Given the description of an element on the screen output the (x, y) to click on. 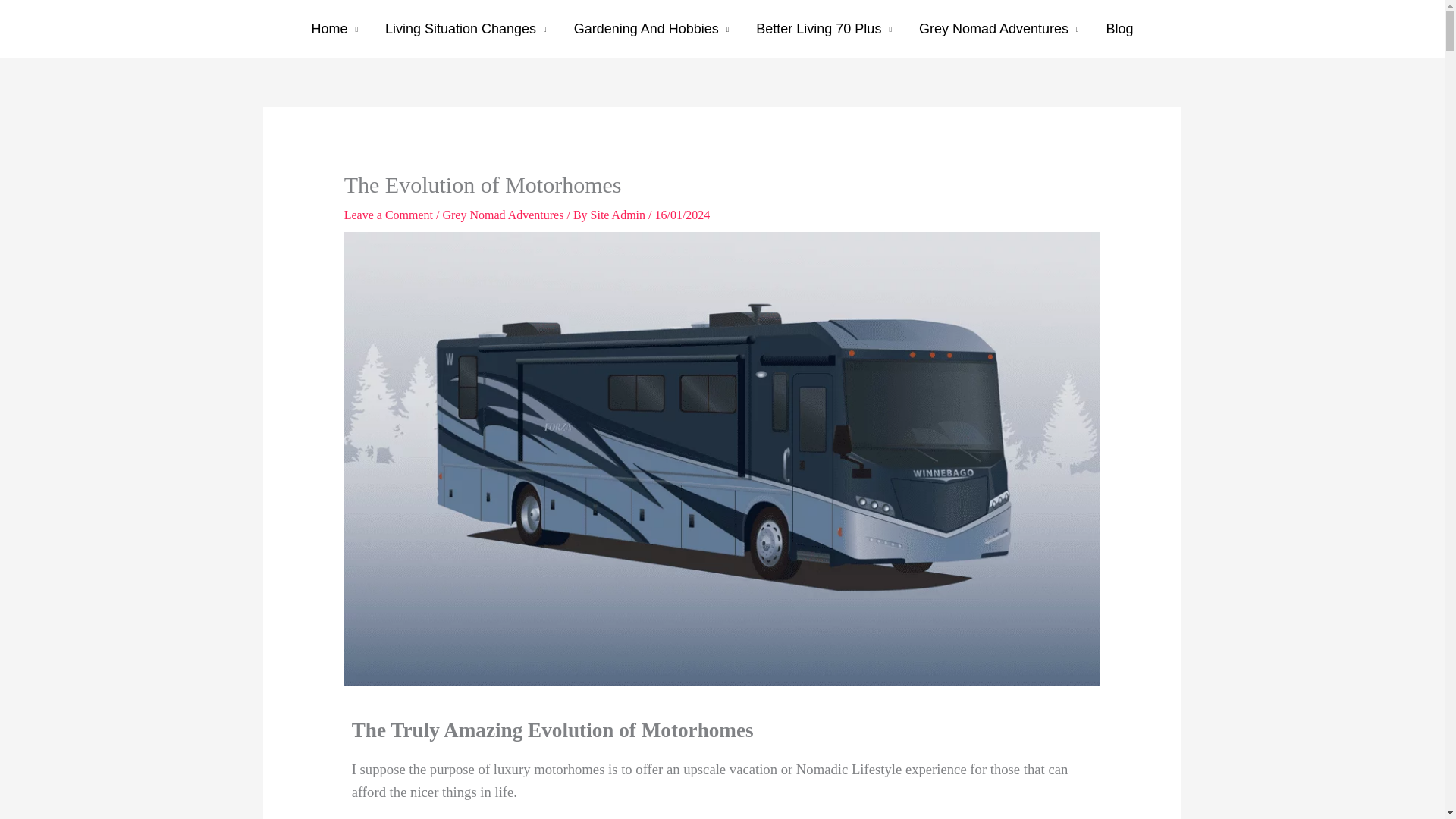
Living Situation Changes (465, 29)
Grey Nomad Adventures (999, 29)
Home (334, 29)
Gardening And Hobbies (651, 29)
View all posts by Site Admin (619, 214)
Better Living 70 Plus (823, 29)
Blog (1120, 29)
